Given the description of an element on the screen output the (x, y) to click on. 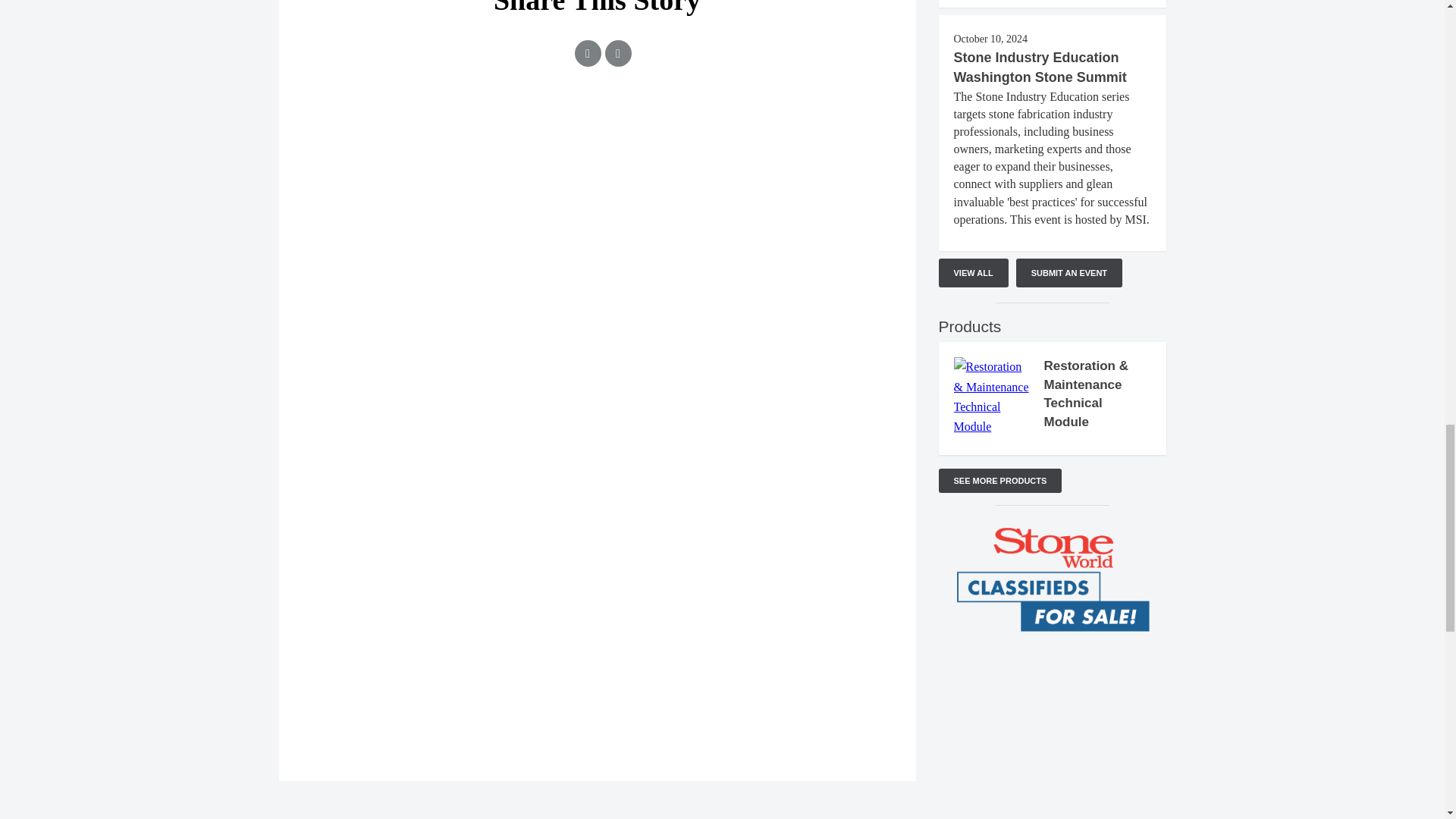
Interaction questions (597, 172)
Interaction questions (1052, 719)
Stone Industry Education Washington Stone Summit (1039, 67)
